Given the description of an element on the screen output the (x, y) to click on. 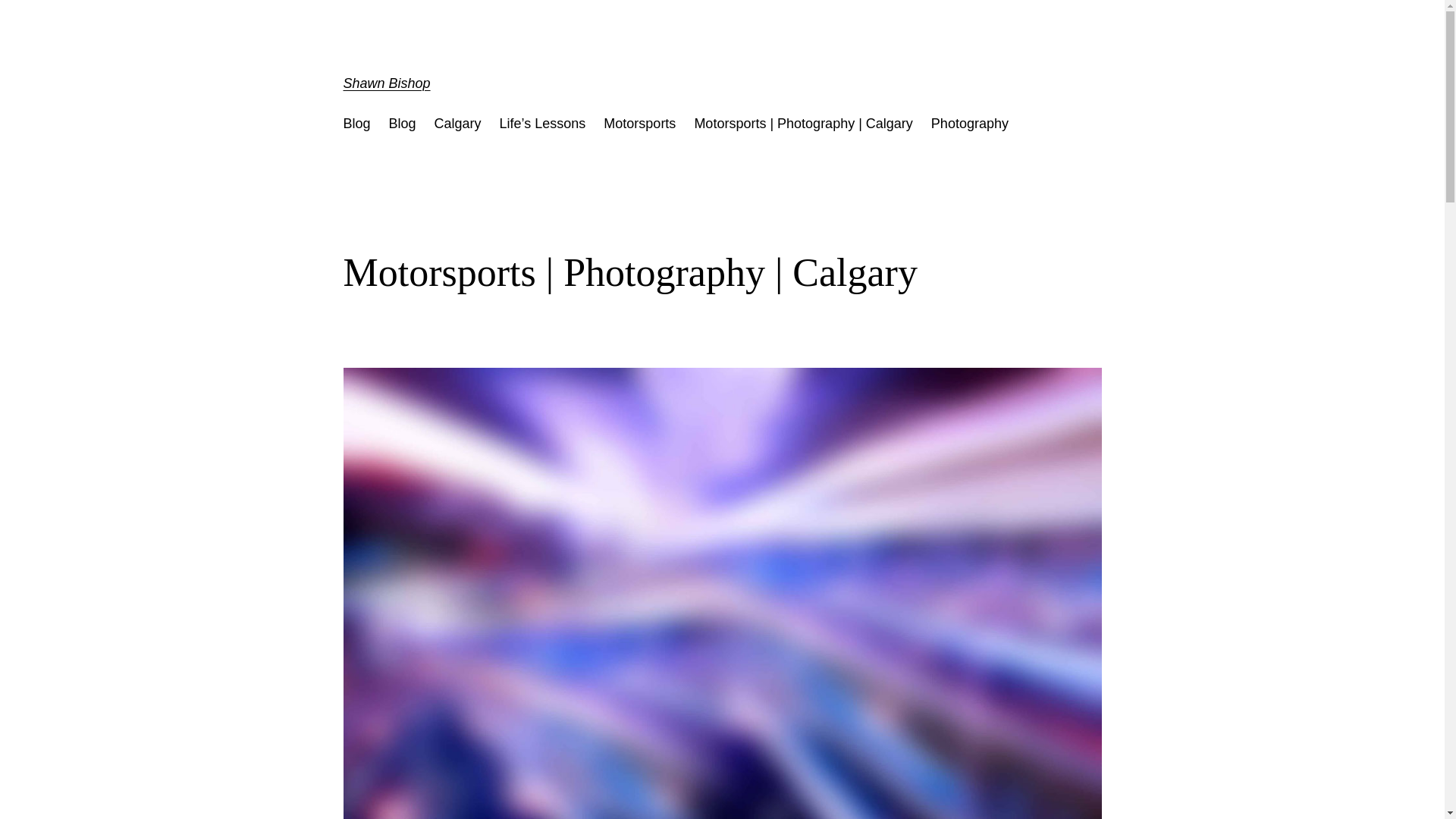
Blog Element type: text (356, 123)
Calgary Element type: text (457, 123)
Motorsports Element type: text (639, 123)
Blog Element type: text (402, 123)
Shawn Bishop Element type: text (385, 83)
Motorsports | Photography | Calgary Element type: text (802, 123)
Photography Element type: text (969, 123)
